Given the description of an element on the screen output the (x, y) to click on. 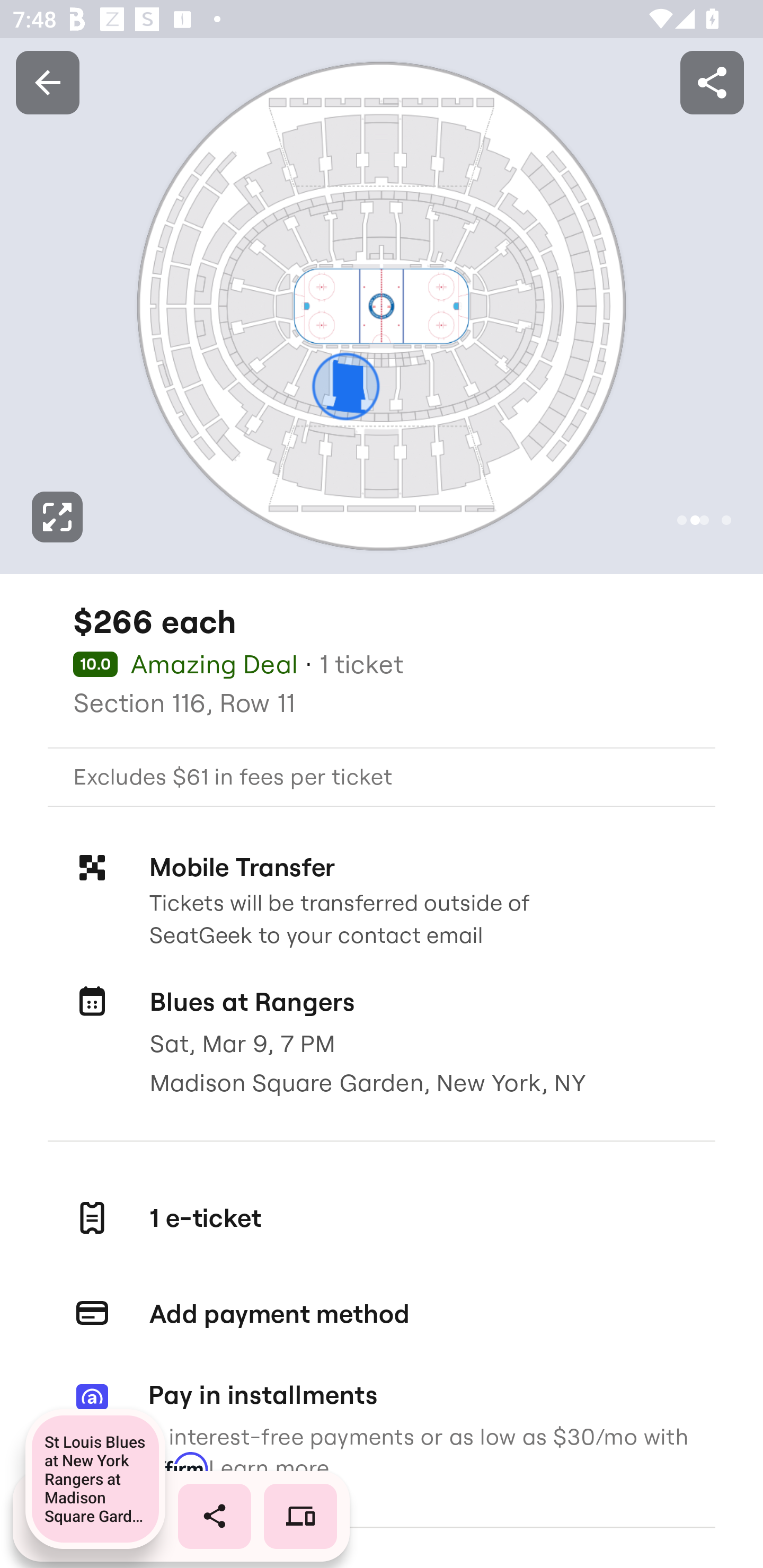
Back (47, 81)
Share (711, 81)
Expand image to fullscreen (57, 517)
1 e-ticket (381, 1217)
Add payment method (381, 1313)
